Given the description of an element on the screen output the (x, y) to click on. 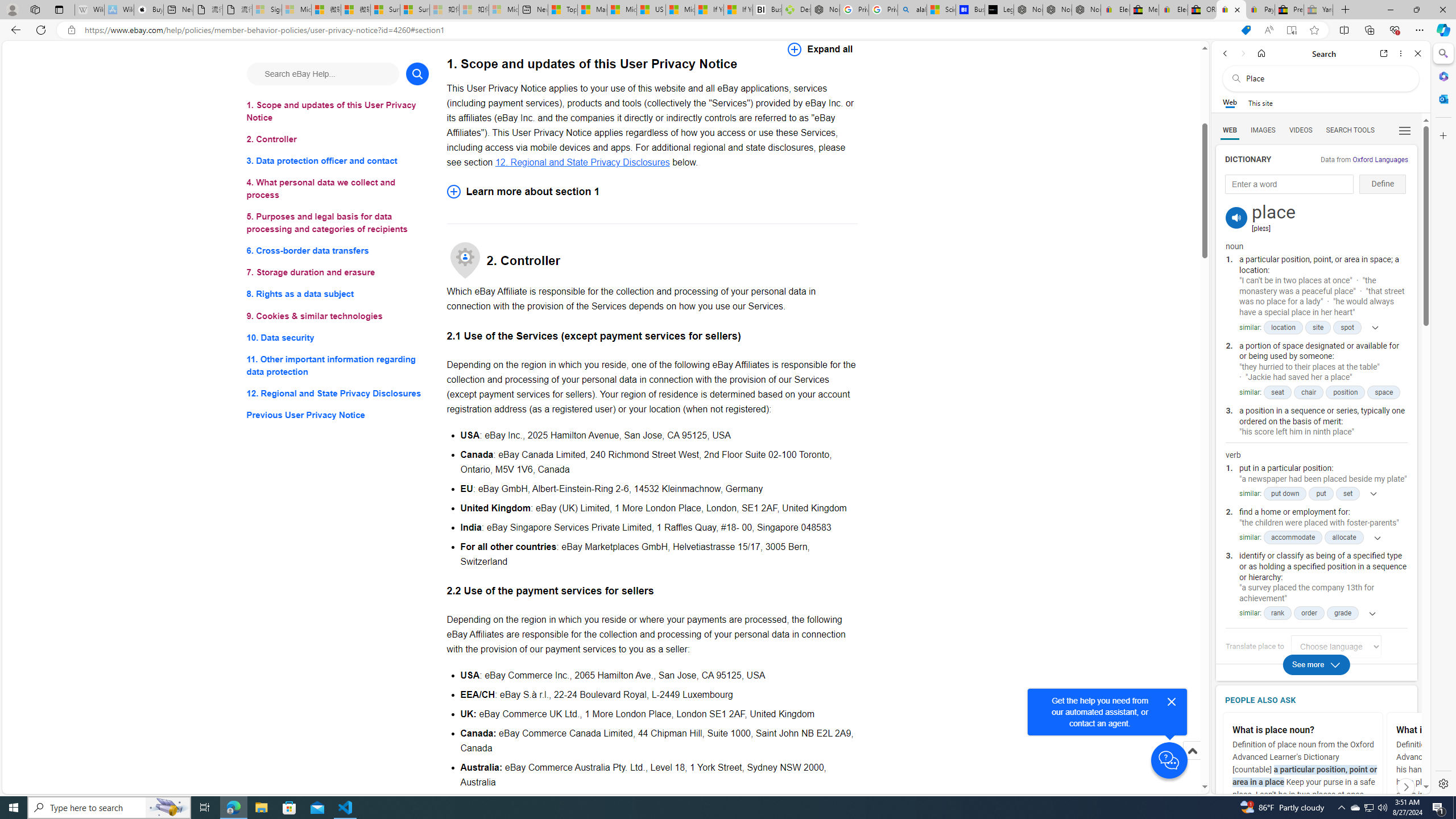
alabama high school quarterback dies - Search (911, 9)
Oxford Languages (1379, 159)
Electronics, Cars, Fashion, Collectibles & More | eBay (1173, 9)
put (1320, 493)
8. Rights as a data subject (337, 293)
Define (1382, 184)
position (1345, 392)
